Given the description of an element on the screen output the (x, y) to click on. 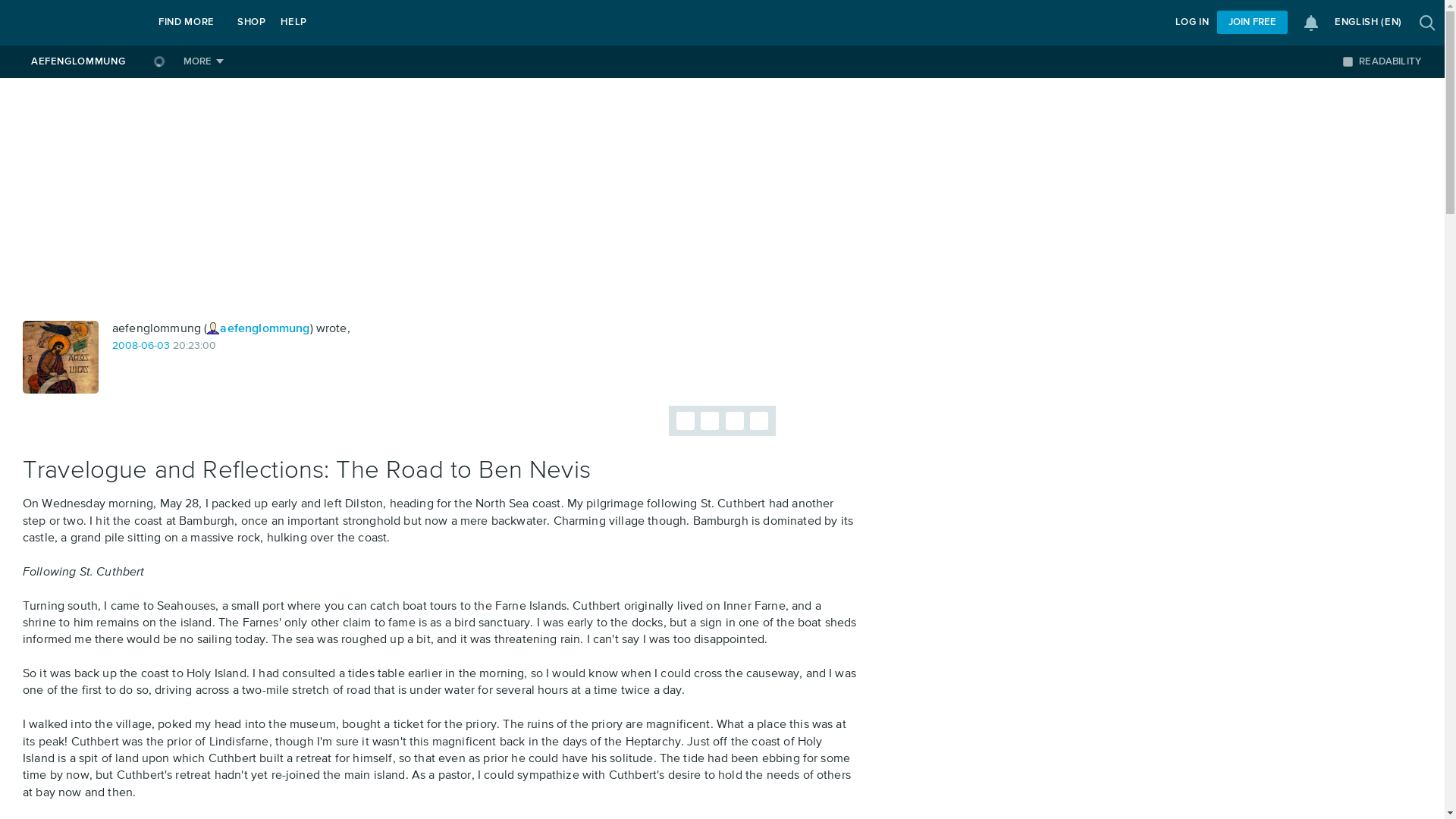
JOIN FREE (1252, 22)
AEFENGLOMMUNG (77, 61)
LIVEJOURNAL (73, 22)
aefenglommung: lindisfarne gospels (61, 357)
MORE (203, 61)
on (1347, 61)
FIND MORE (186, 22)
LOG IN (1192, 22)
Previous (685, 420)
SHOP (251, 22)
HELP (293, 22)
